Given the description of an element on the screen output the (x, y) to click on. 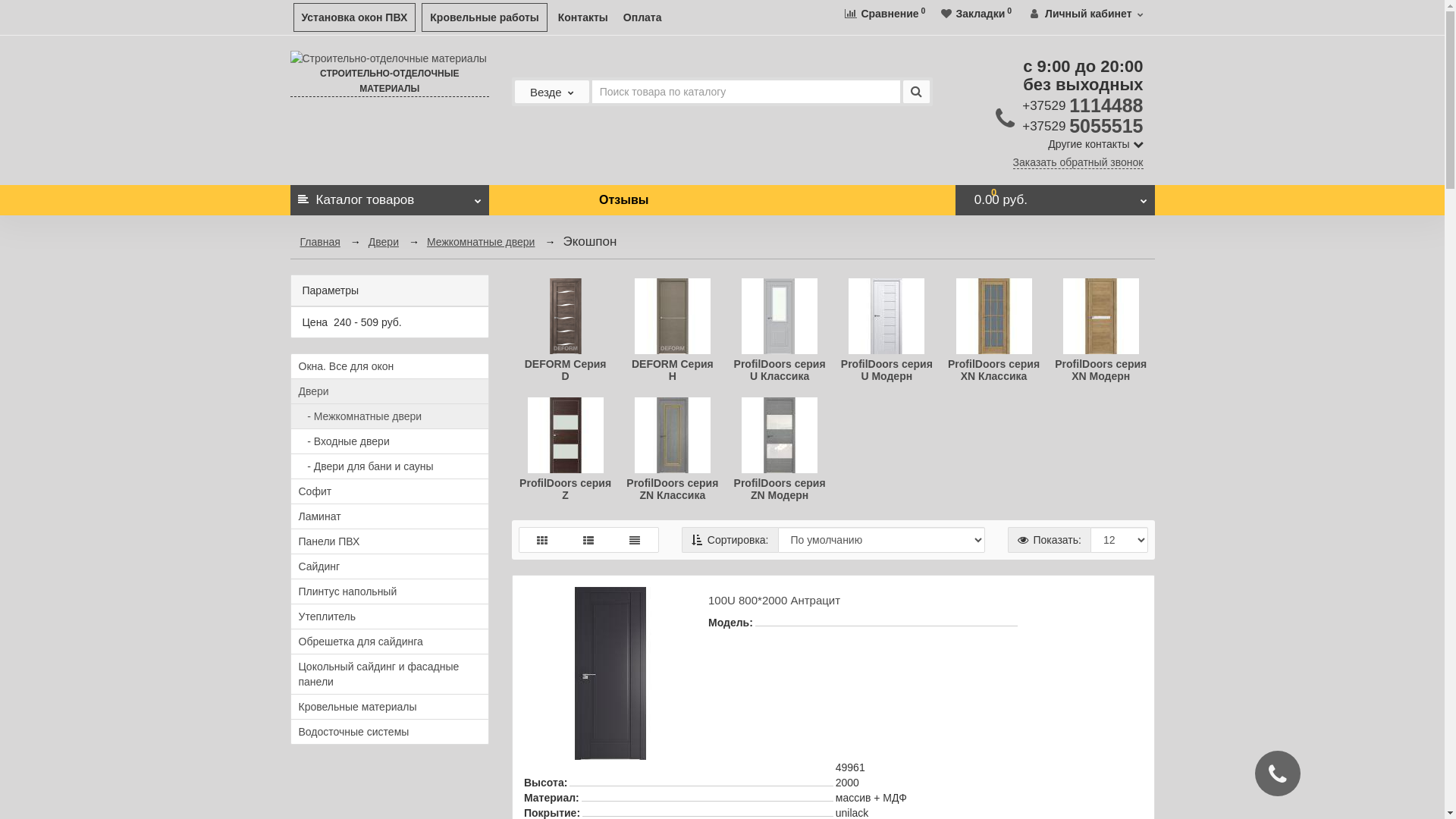
+37529 5055515 Element type: text (1082, 125)
+37529 1114488 Element type: text (1082, 105)
